Given the description of an element on the screen output the (x, y) to click on. 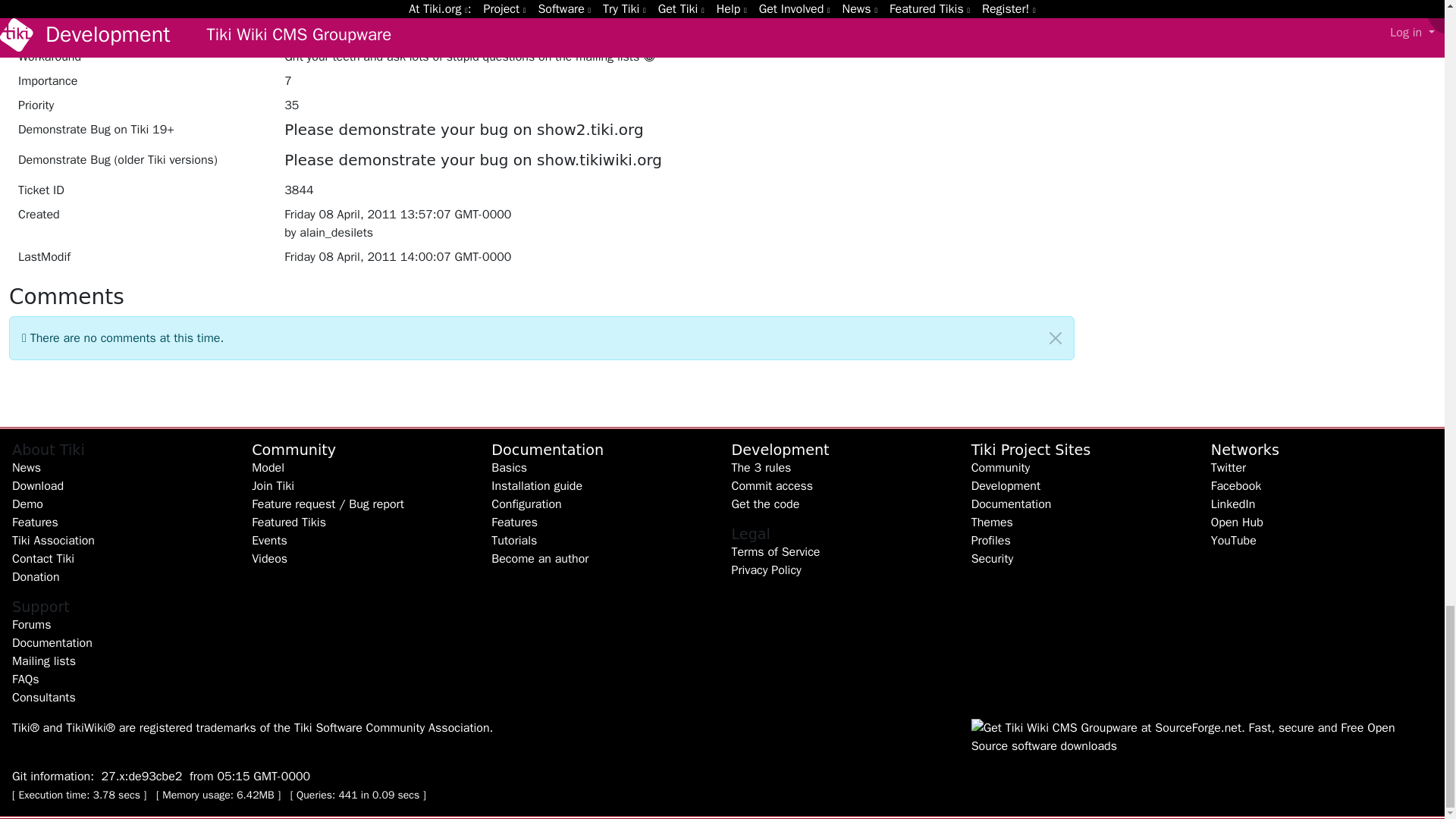
Solution (141, 35)
Workaround (141, 59)
Description (141, 12)
Importance (141, 84)
